Given the description of an element on the screen output the (x, y) to click on. 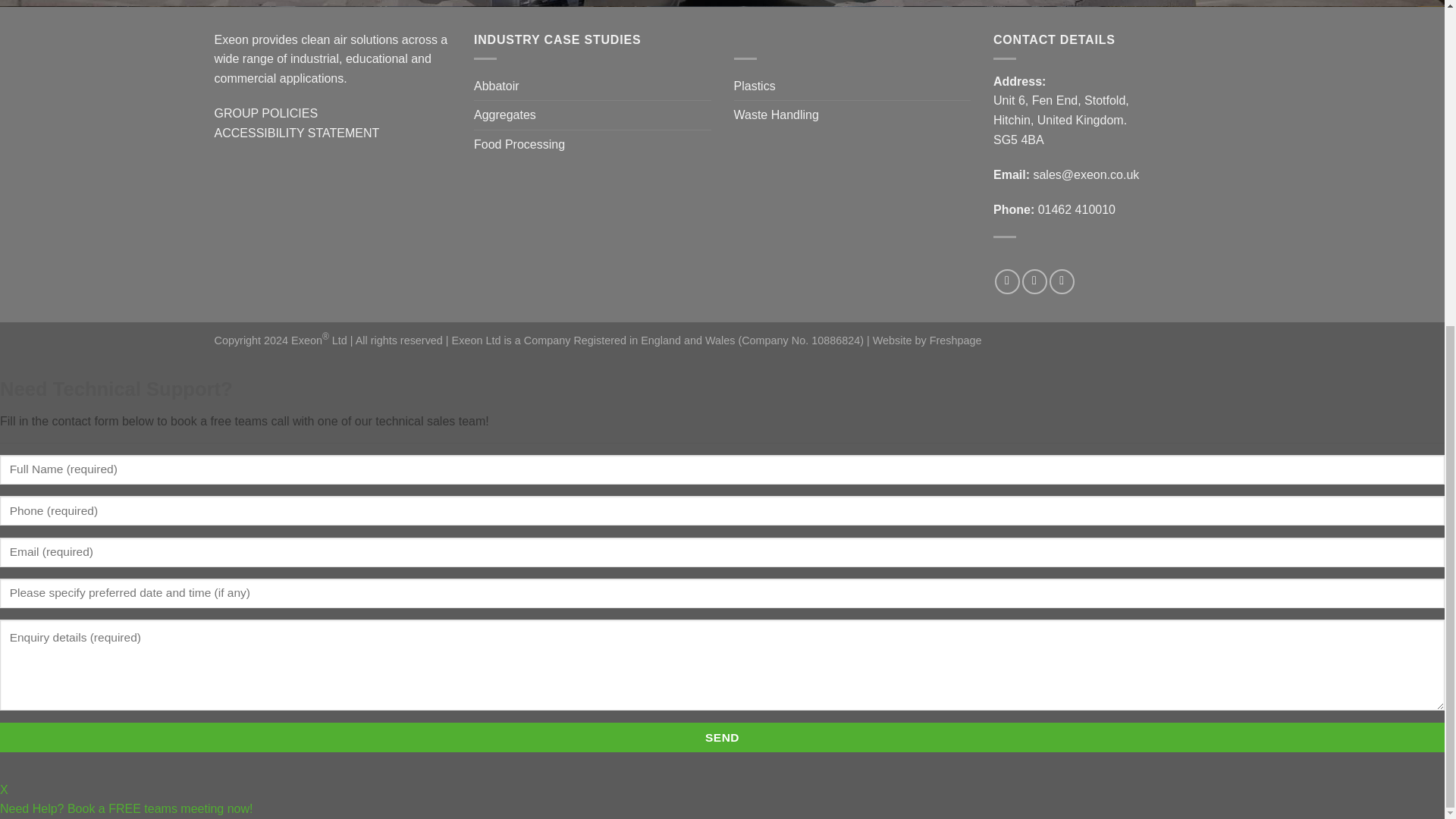
Follow on Twitter (1034, 281)
Follow on LinkedIn (1061, 281)
Follow on Facebook (1007, 281)
Send (722, 737)
